Given the description of an element on the screen output the (x, y) to click on. 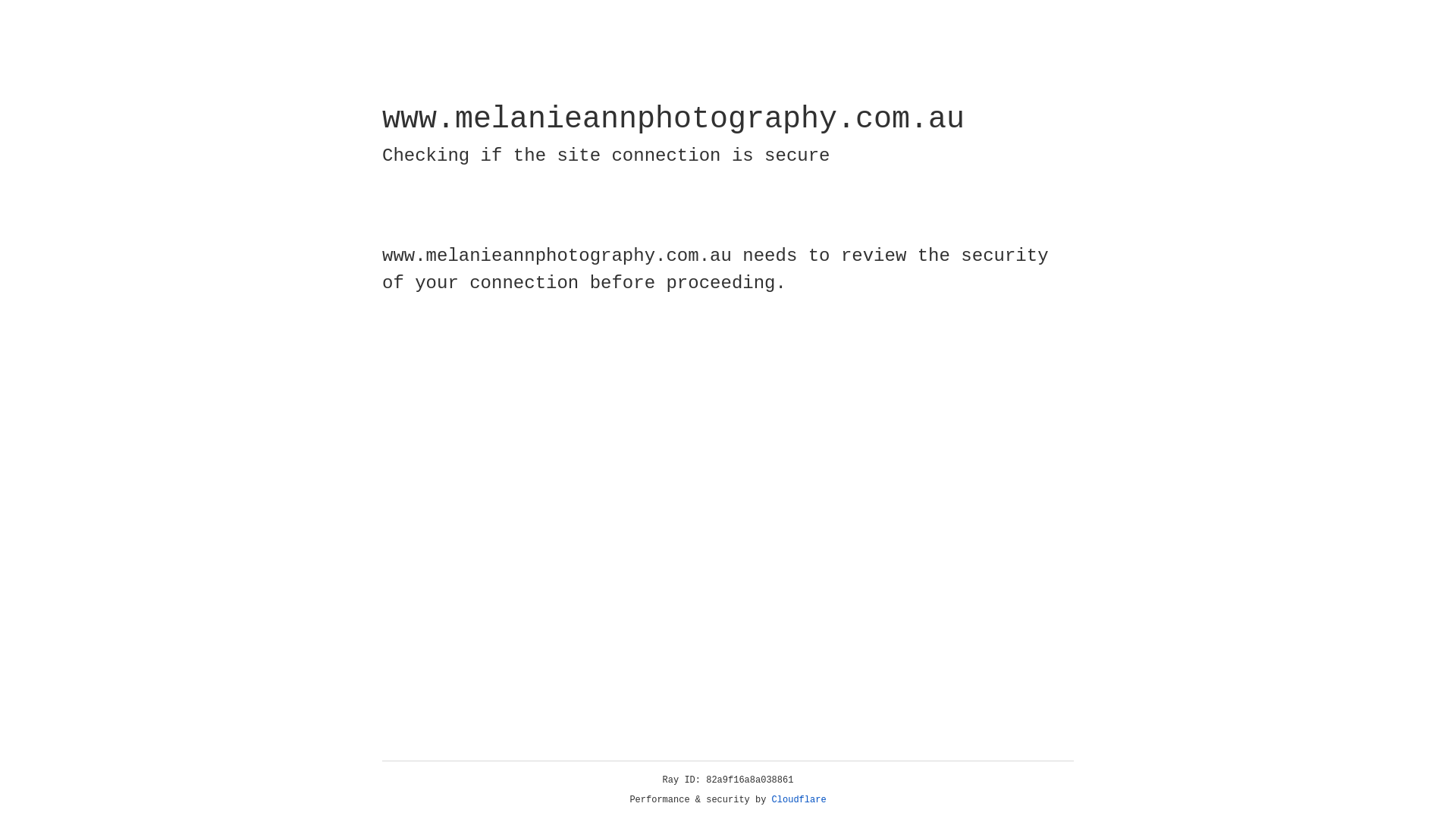
Cloudflare Element type: text (798, 799)
